Given the description of an element on the screen output the (x, y) to click on. 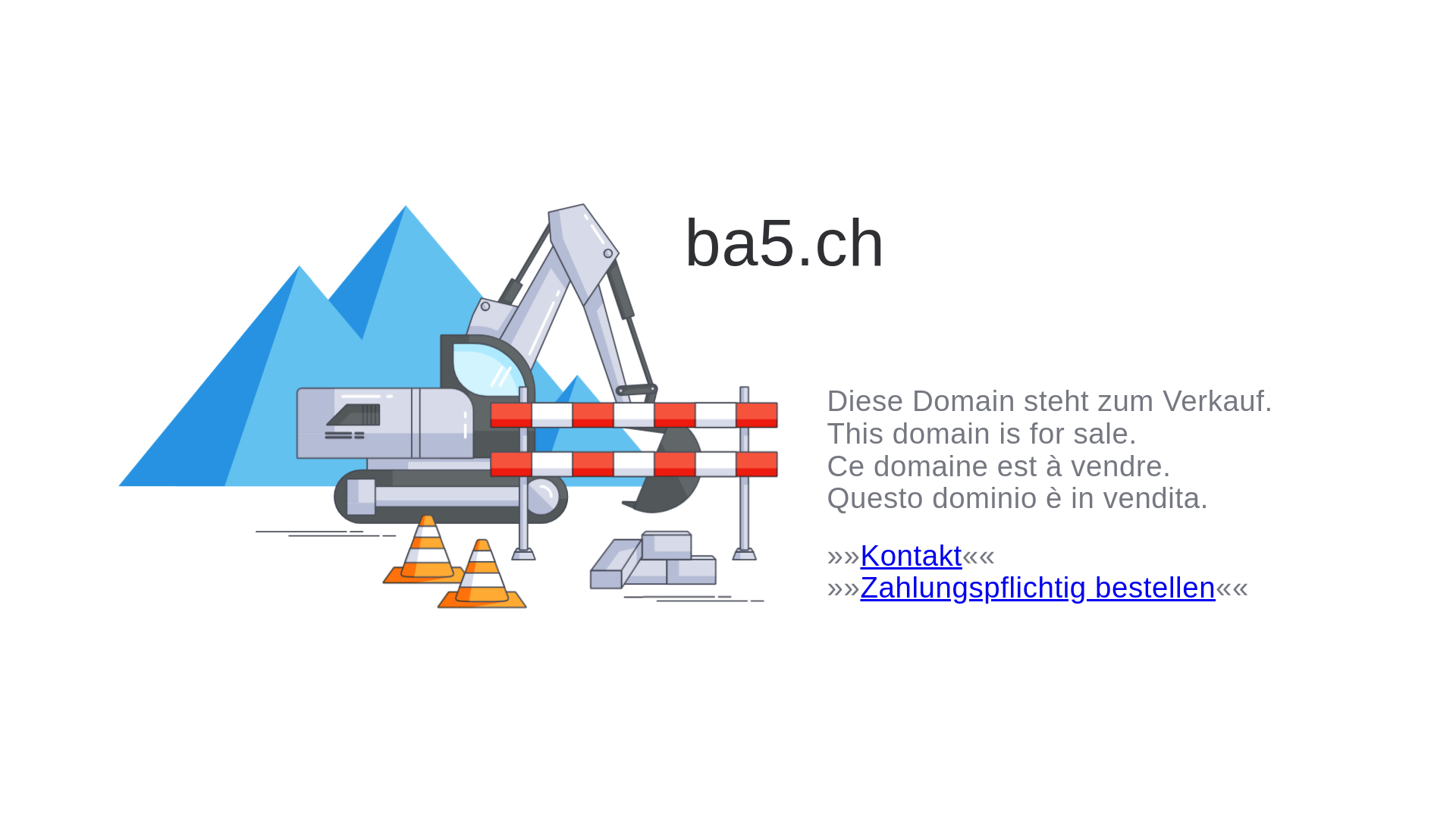
Kontakt Element type: text (910, 554)
Zahlungspflichtig bestellen Element type: text (1037, 587)
